Given the description of an element on the screen output the (x, y) to click on. 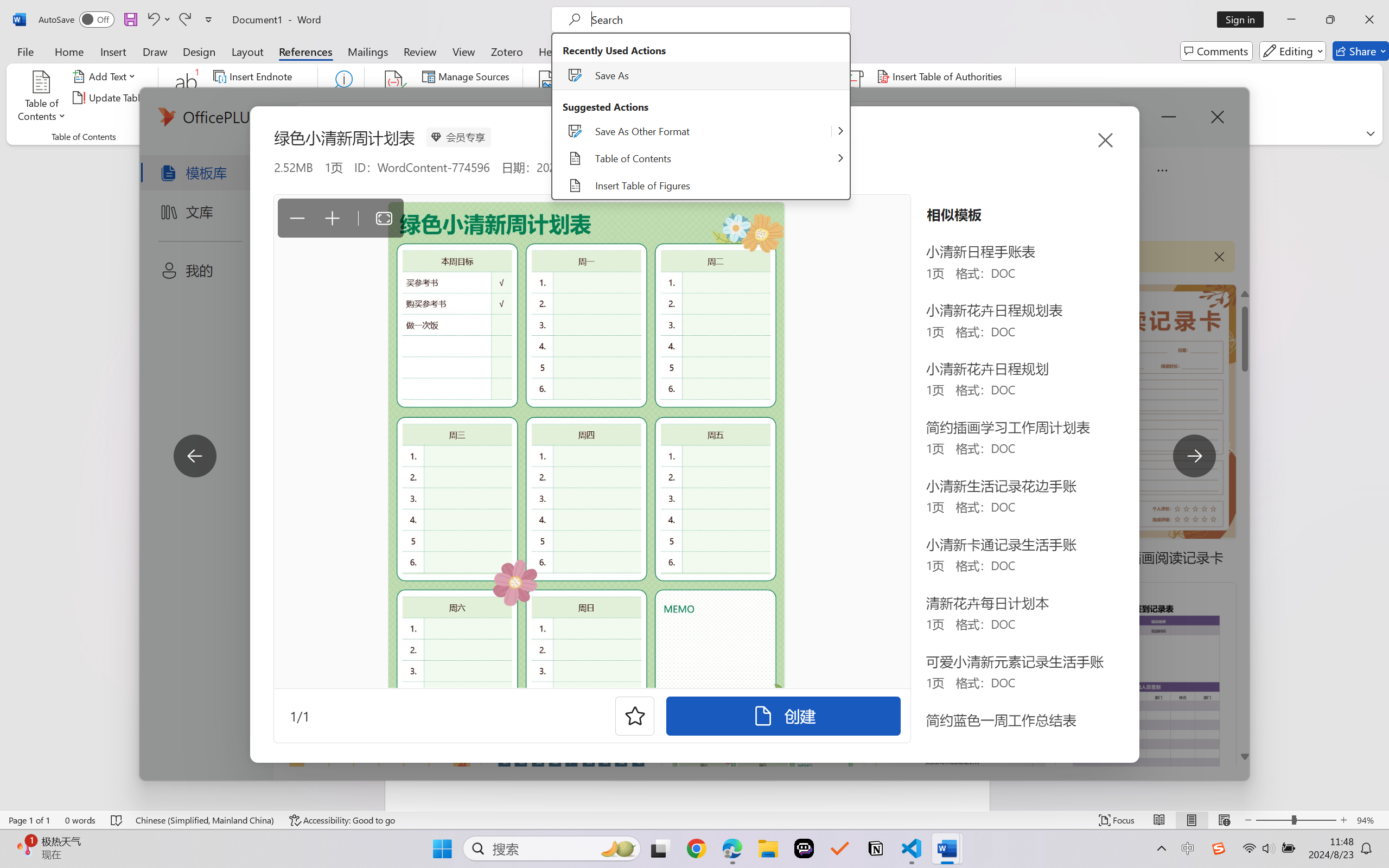
Manage Sources... (467, 75)
Mark Entry... (718, 97)
Insert Table of Authorities... (941, 75)
Cross-reference... (615, 118)
Insert Table of Figures... (628, 75)
Next Footnote (260, 97)
Show Notes (248, 118)
